Given the description of an element on the screen output the (x, y) to click on. 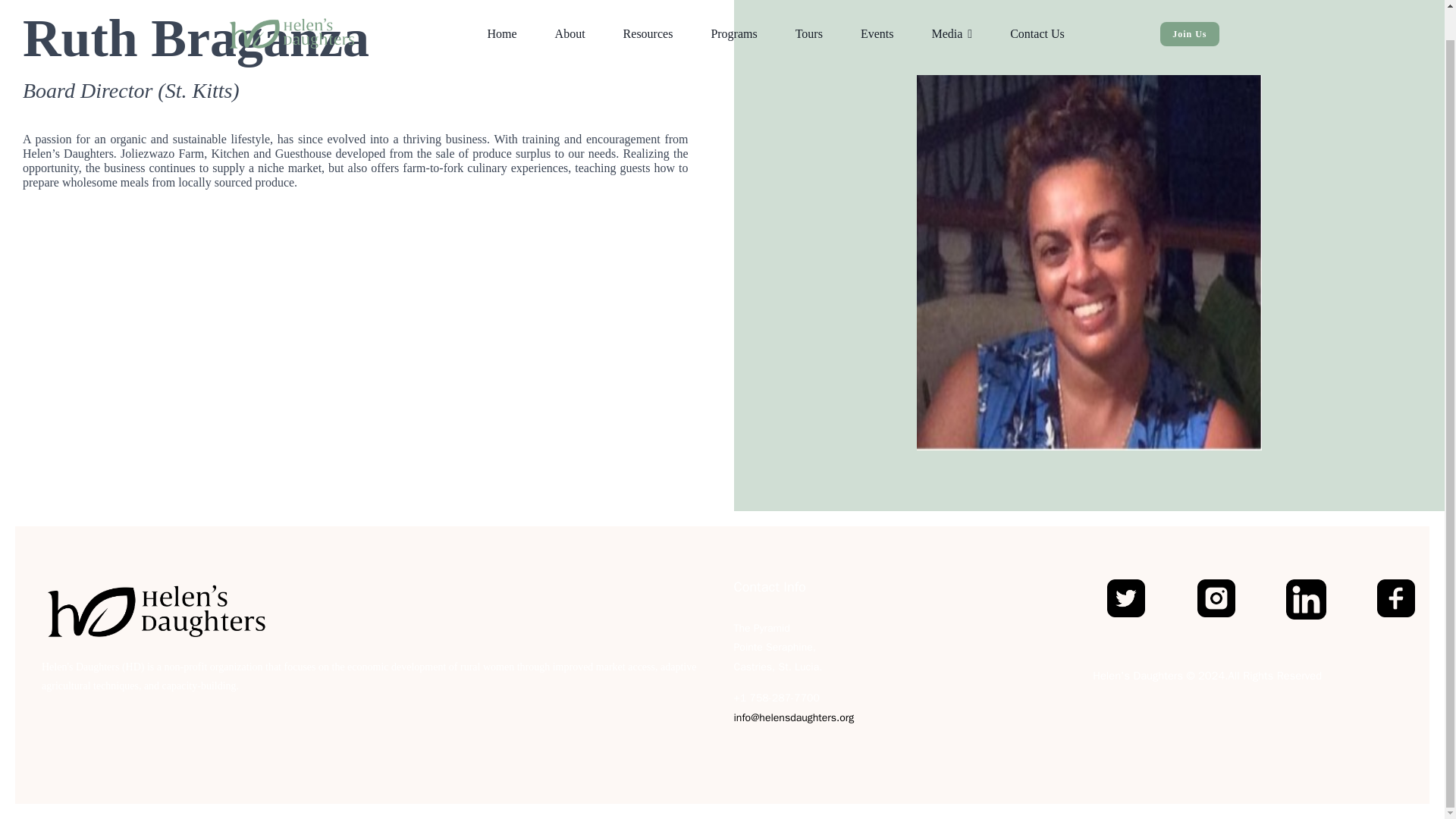
Programs (733, 18)
Join Us (1189, 7)
Resources (648, 18)
Media (951, 18)
Contact Us (1037, 18)
Home (501, 18)
About (569, 18)
Events (876, 18)
Tours (808, 18)
